Given the description of an element on the screen output the (x, y) to click on. 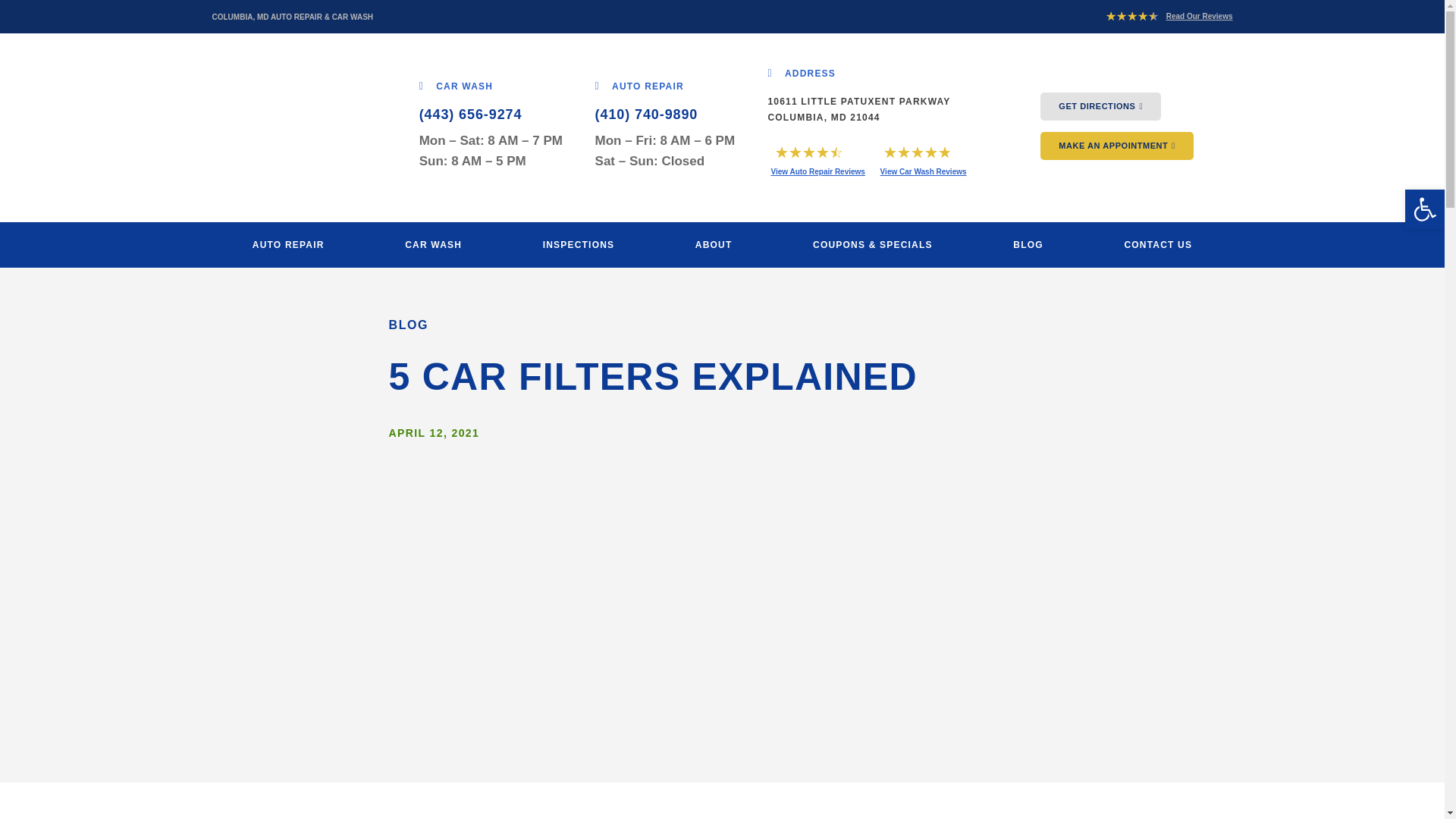
View Car Wash Reviews (923, 171)
AUTO REPAIR (639, 85)
BLOG (1027, 245)
GET DIRECTIONS (1100, 106)
Read Our Reviews (1199, 16)
ABOUT (714, 245)
CAR WASH (456, 85)
CONTACT US (1157, 245)
INSPECTIONS (577, 245)
Accessibility Tools (1424, 209)
